Given the description of an element on the screen output the (x, y) to click on. 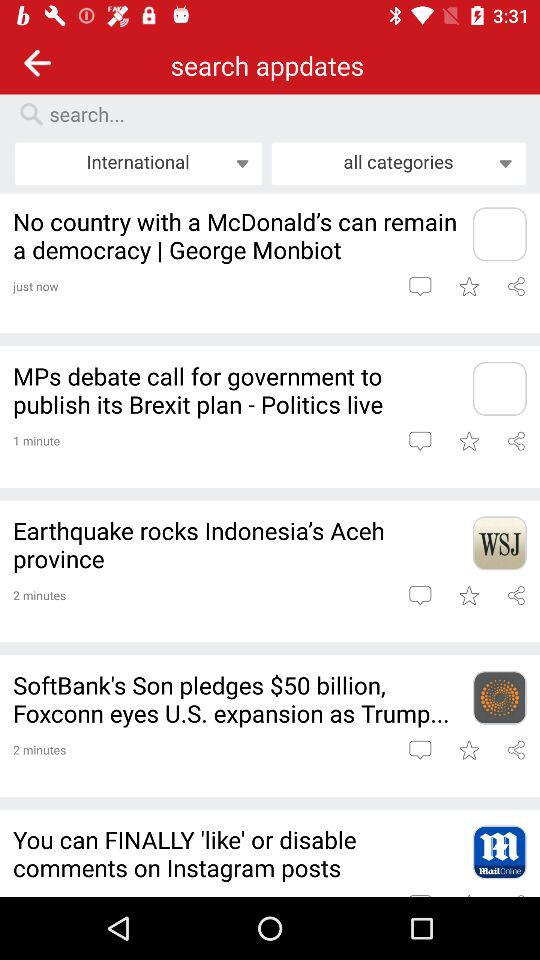
share the article (515, 595)
